Given the description of an element on the screen output the (x, y) to click on. 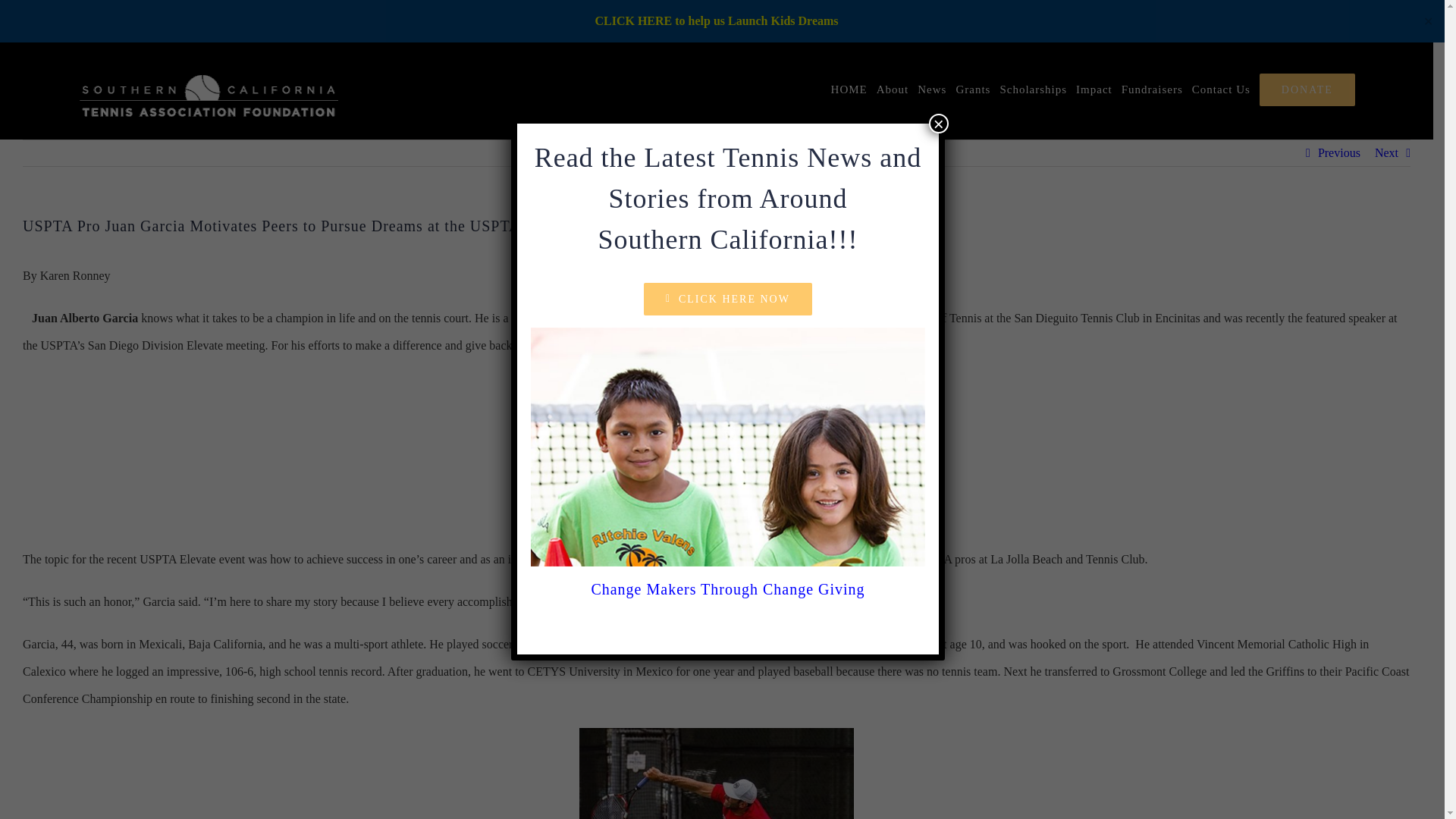
CLICK HERE to help us Launch Kids Dreams (716, 20)
Next (1385, 153)
Previous (1338, 153)
DONATE (1307, 89)
